Given the description of an element on the screen output the (x, y) to click on. 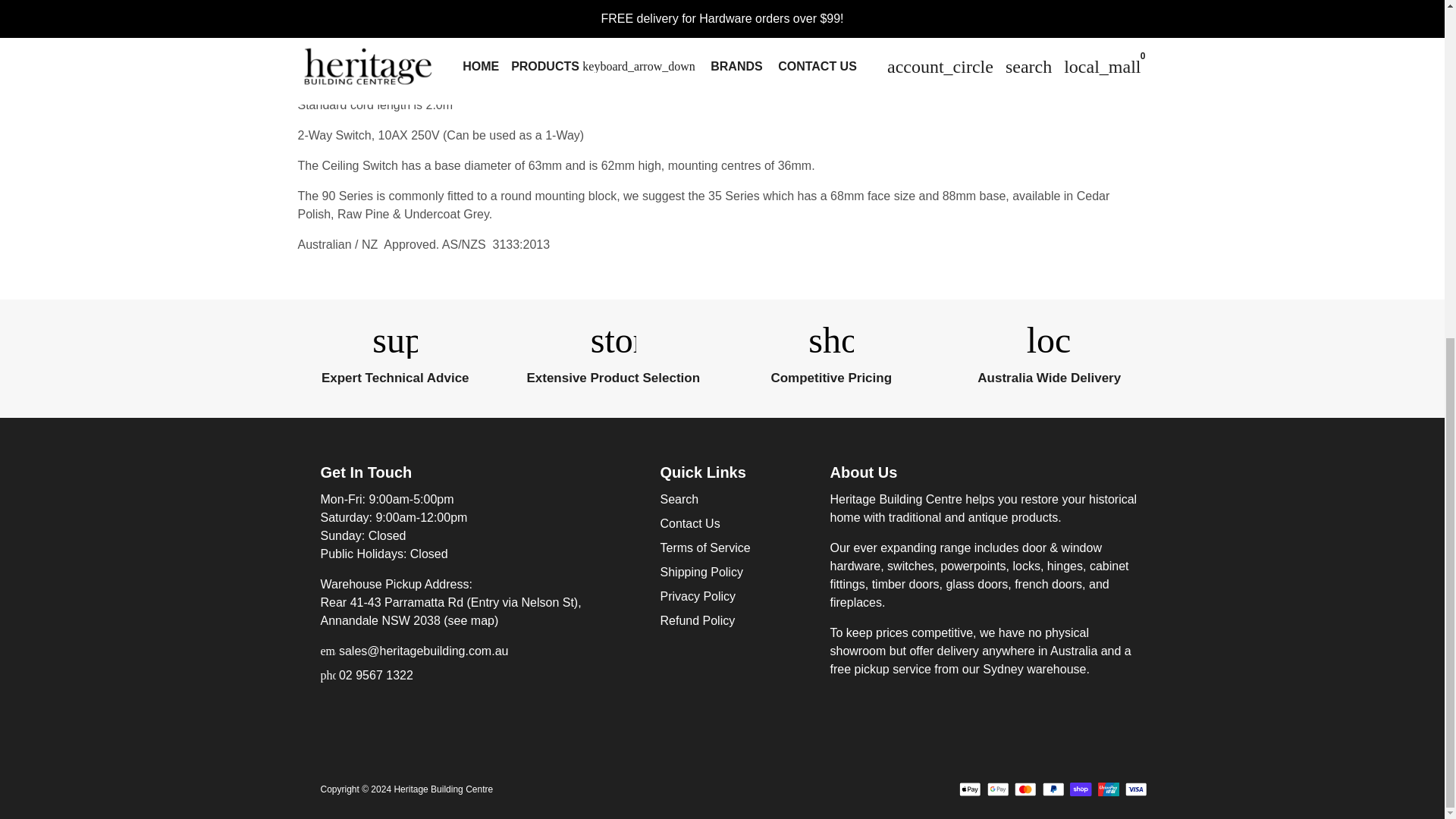
Google Pay (998, 789)
Apple Pay (970, 789)
Mastercard (1025, 789)
Shop Pay (1081, 789)
Visa (1136, 789)
PayPal (1052, 789)
Union Pay (1108, 789)
